Given the description of an element on the screen output the (x, y) to click on. 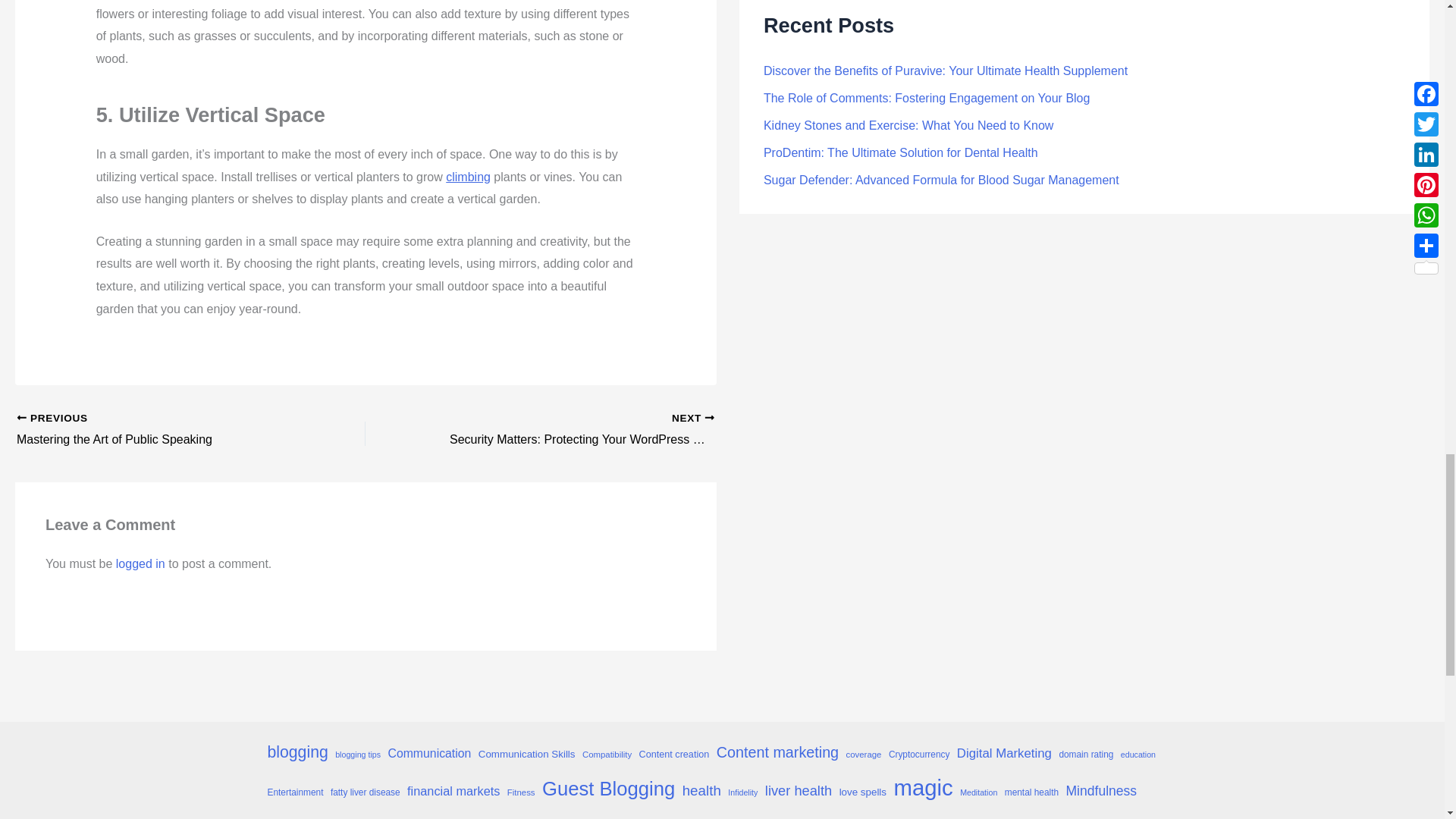
Mastering the Art of Public Speaking (156, 430)
logged in (140, 562)
climbing (156, 430)
